Given the description of an element on the screen output the (x, y) to click on. 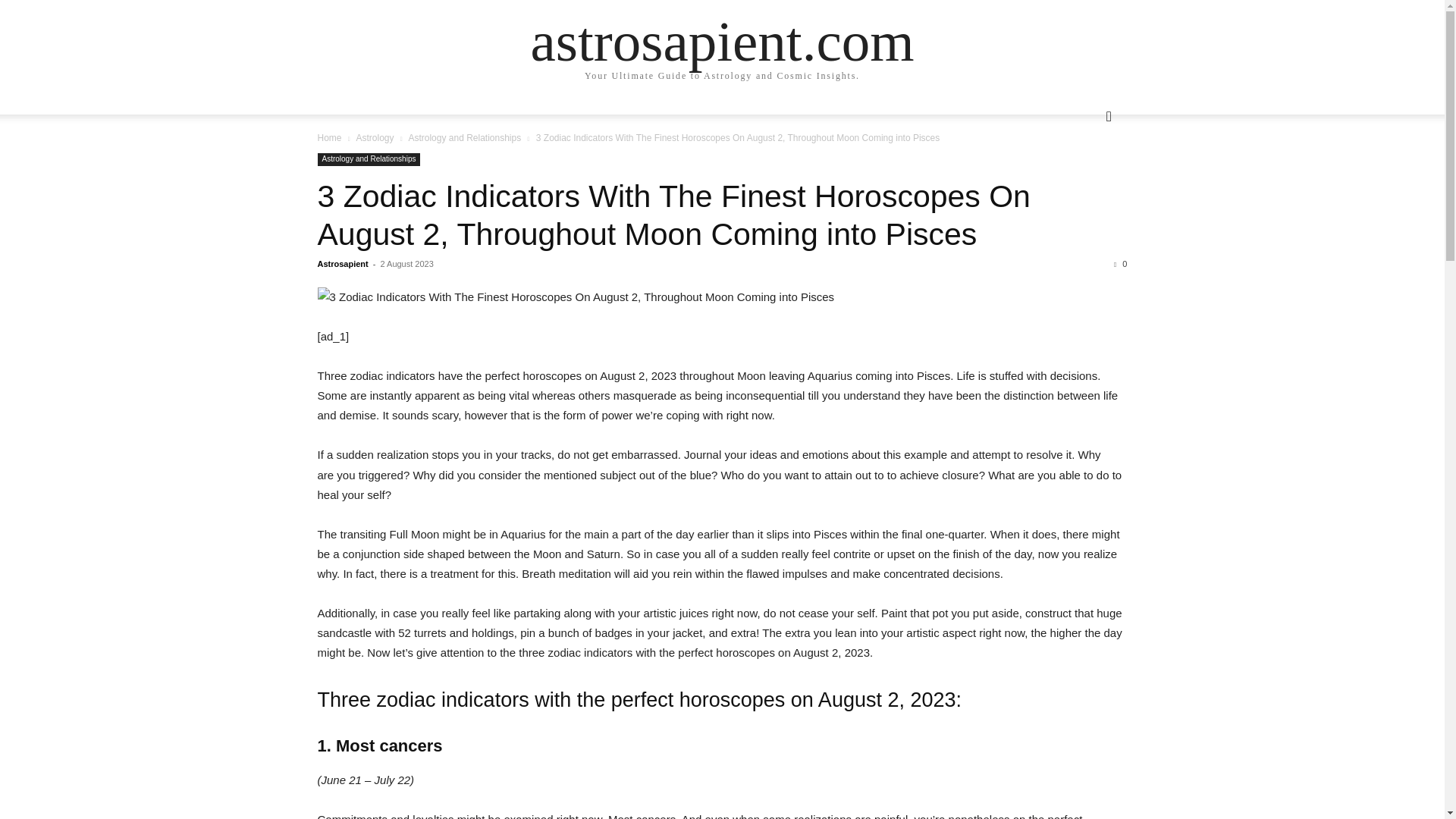
Astrosapient (342, 263)
View all posts in Astrology and Relationships (464, 137)
astrosapient.com (721, 41)
Astrology and Relationships (464, 137)
Astrology and Relationships (368, 159)
View all posts in Astrology (374, 137)
Search (1085, 177)
0 (1119, 263)
Astrology (374, 137)
Home (328, 137)
